Given the description of an element on the screen output the (x, y) to click on. 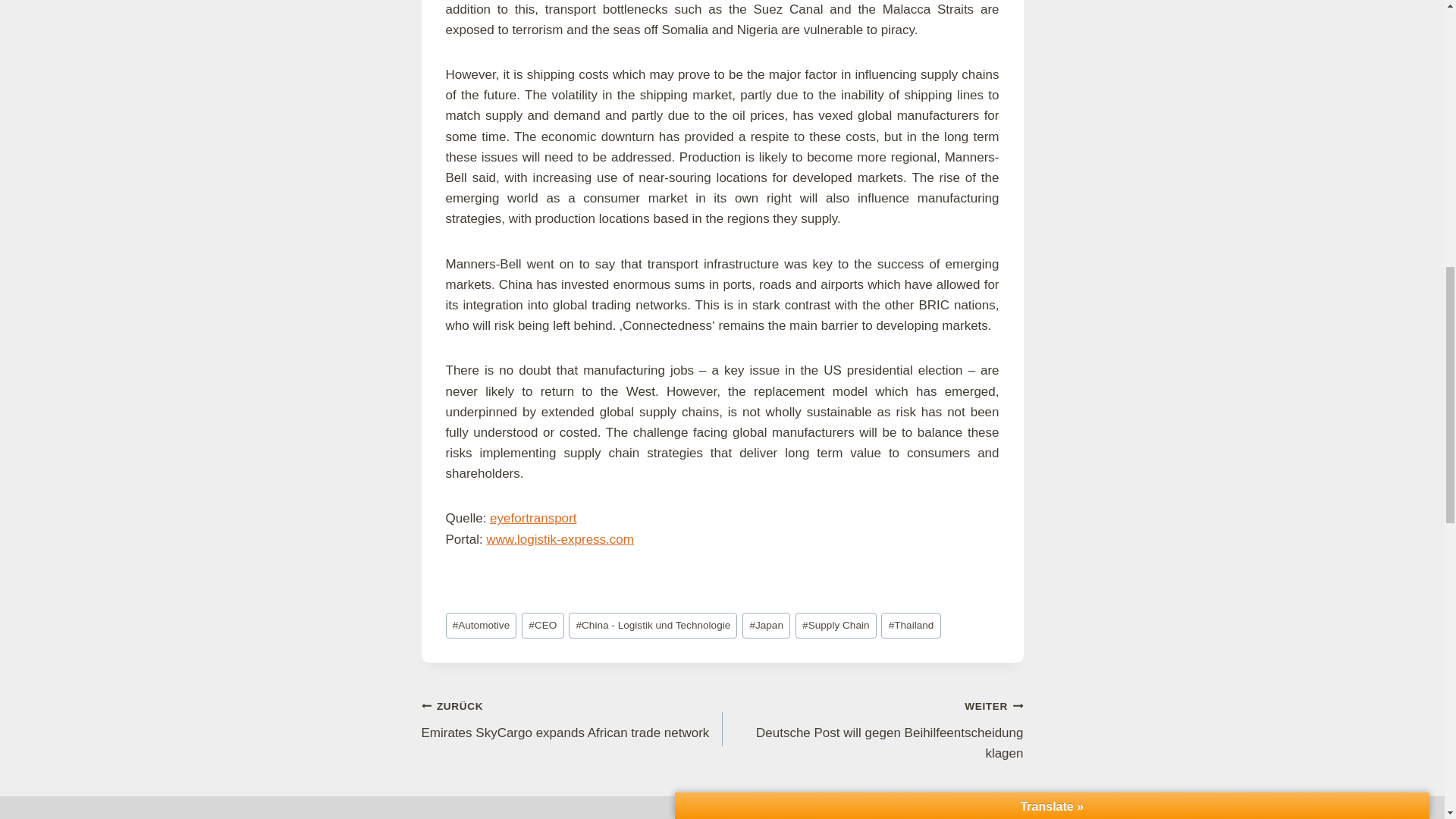
Thailand (910, 625)
www.logistik-express.com (559, 539)
Automotive (480, 625)
Supply Chain (835, 625)
CEO (542, 625)
China - Logistik und Technologie (652, 625)
Japan (766, 625)
eyefortransport (532, 518)
